Given the description of an element on the screen output the (x, y) to click on. 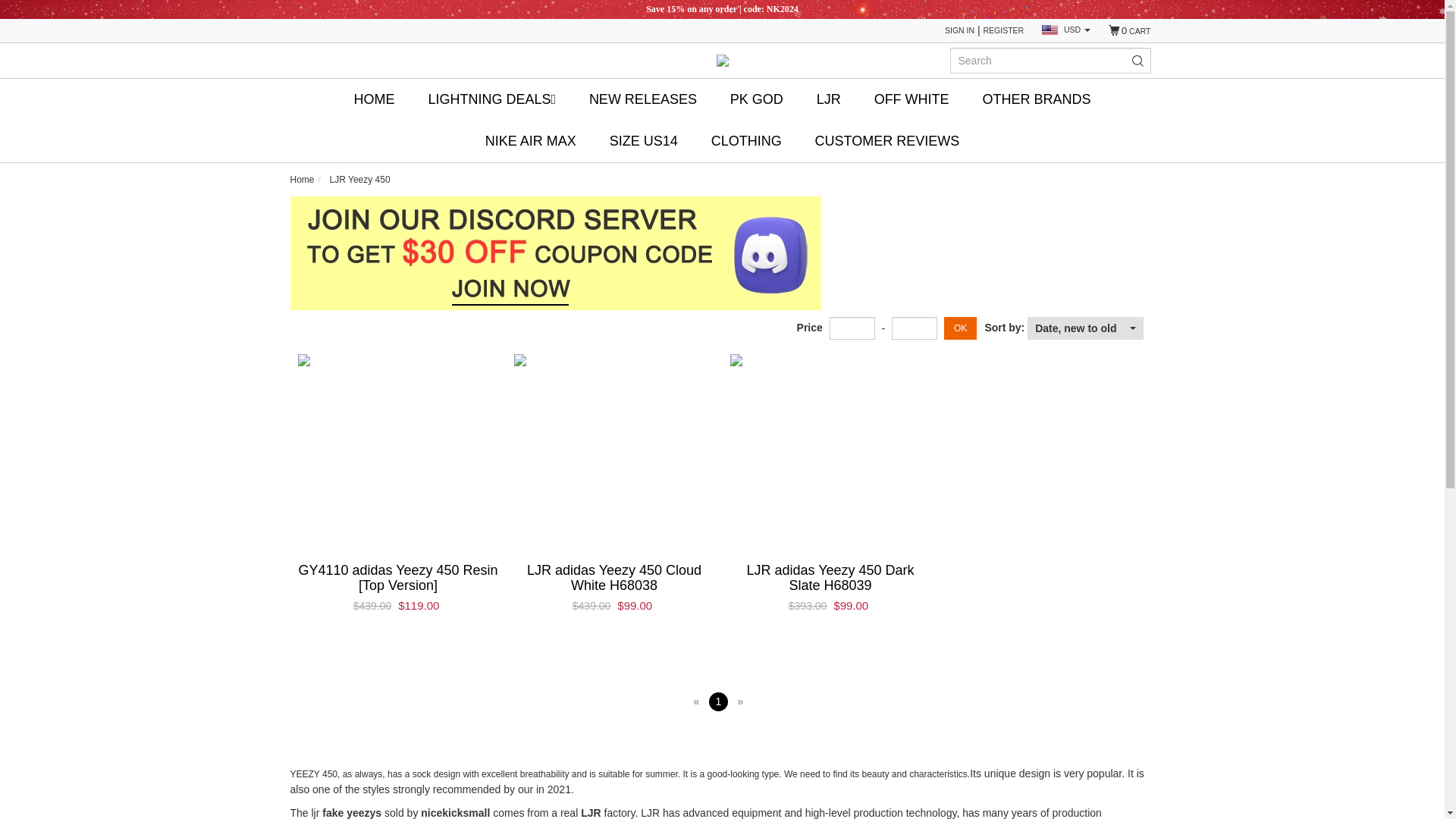
USD (1066, 30)
HOME (374, 99)
NEW RELEASES (642, 99)
Cart (1129, 30)
LJR (828, 99)
PK GOD (756, 99)
HOME (374, 99)
NEW RELEASES (642, 99)
SIGN IN (959, 30)
REGISTER (1004, 30)
Sign In (959, 30)
PK GOD (756, 99)
